Given the description of an element on the screen output the (x, y) to click on. 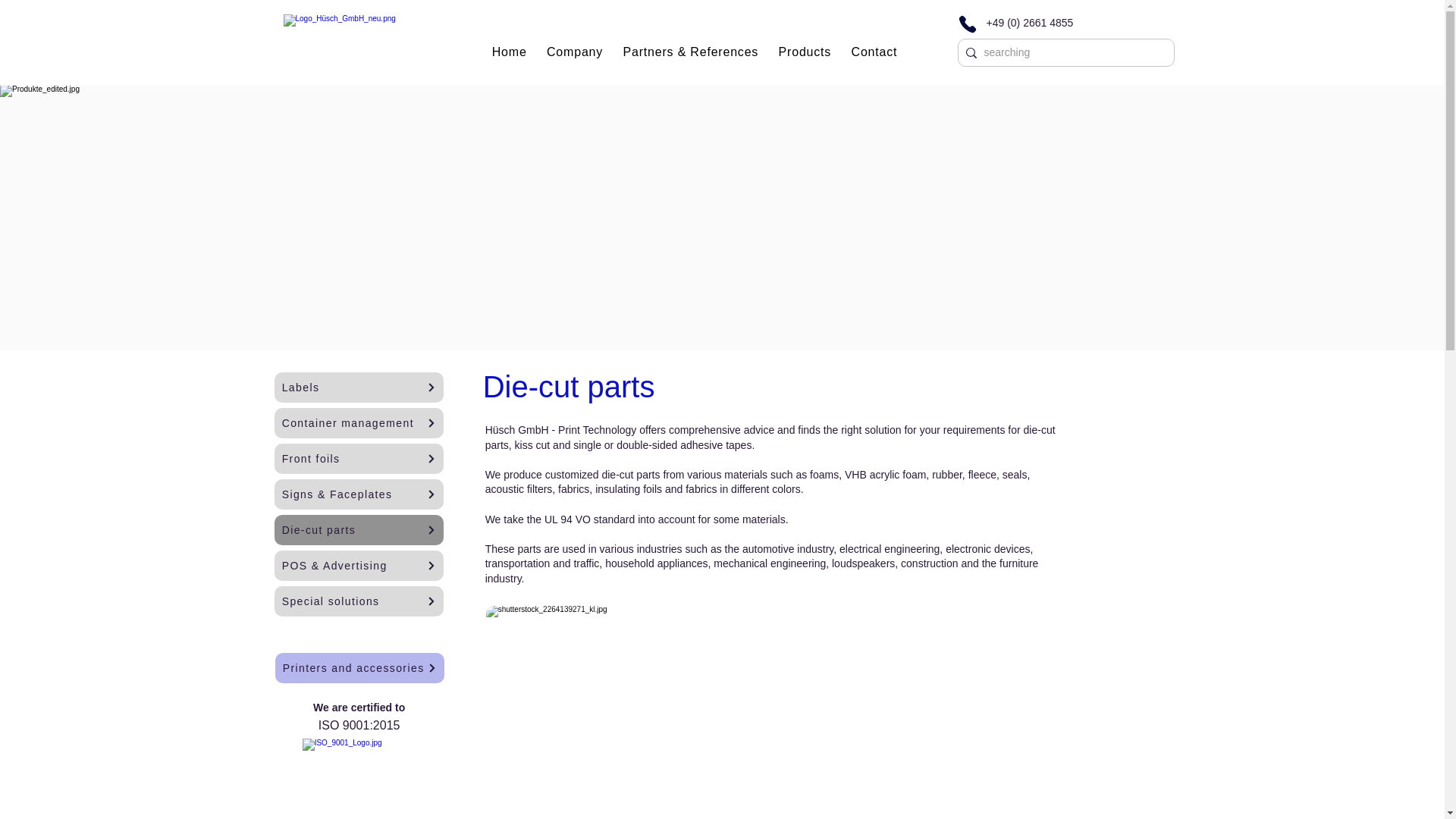
Special solutions (359, 601)
Die-cut parts (359, 530)
Printers and accessories (359, 667)
Labels (359, 387)
Container management (359, 422)
Front foils (359, 458)
Company (574, 51)
Products (804, 51)
Contact (873, 51)
Home (508, 51)
